Given the description of an element on the screen output the (x, y) to click on. 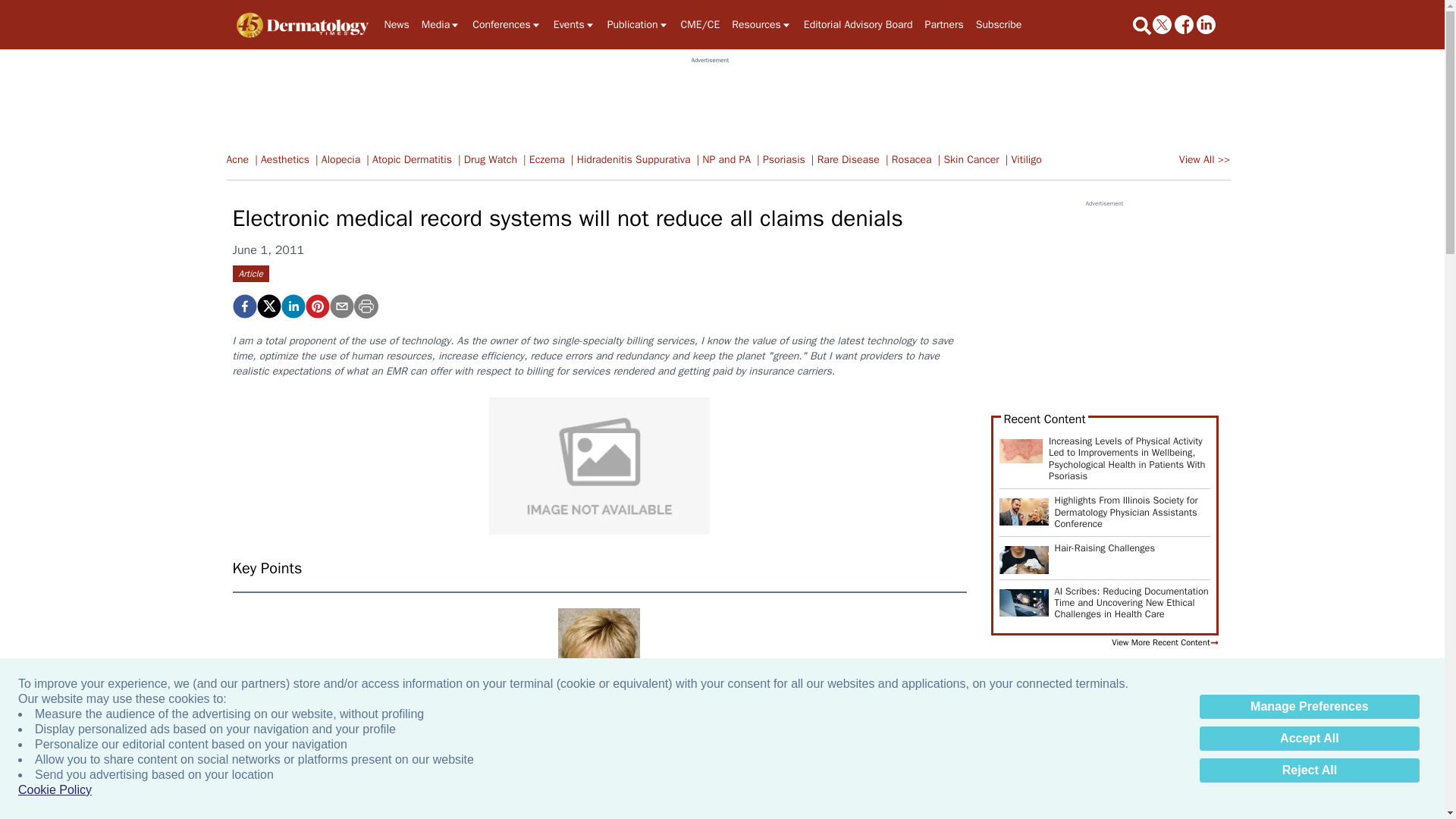
Accept All (1309, 738)
3rd party ad content (709, 98)
Manage Preferences (1309, 706)
Cookie Policy (54, 789)
News (396, 23)
Editorial Advisory Board (857, 23)
Reject All (1309, 769)
